Given the description of an element on the screen output the (x, y) to click on. 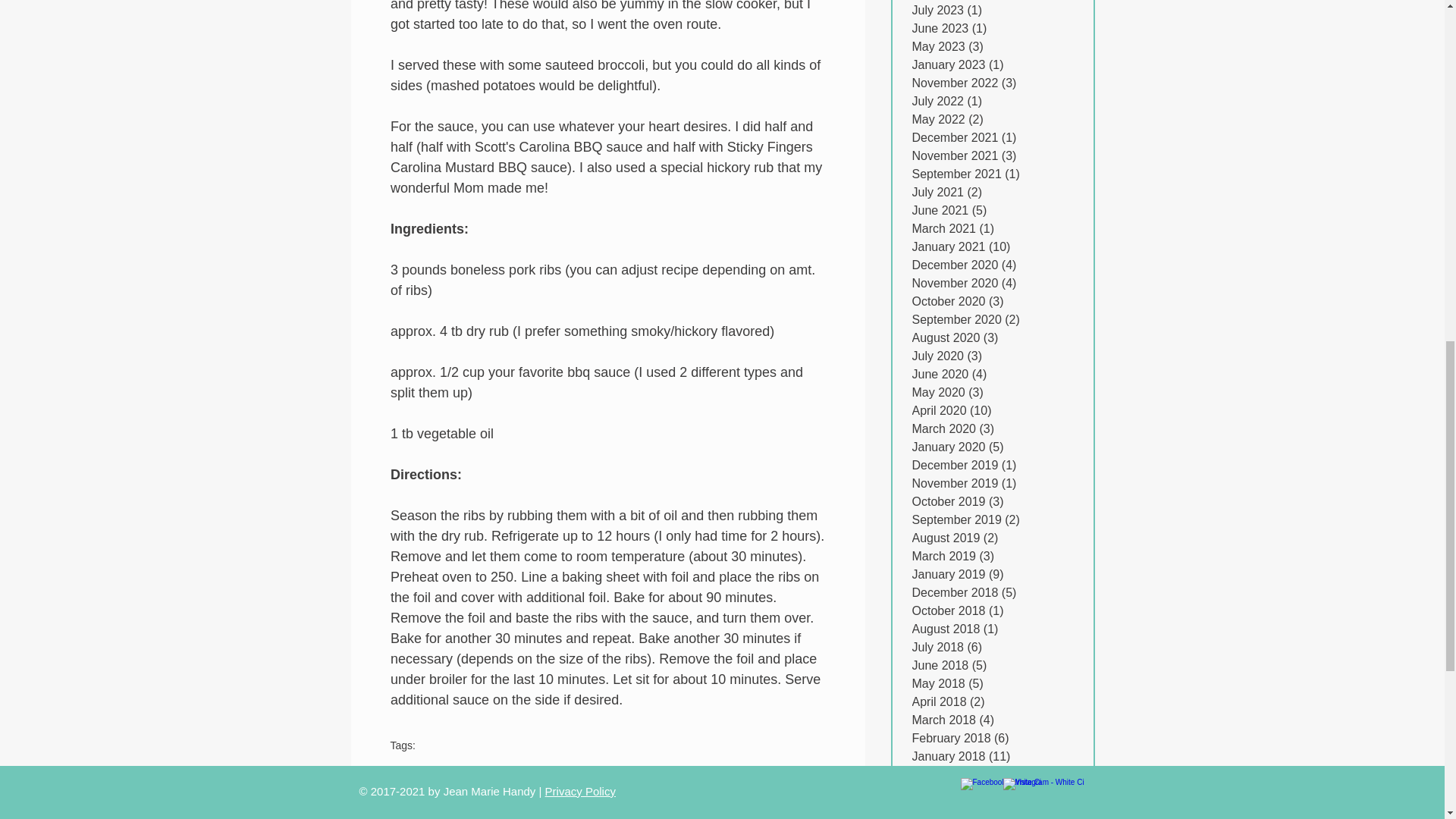
BBQ (402, 775)
